Given the description of an element on the screen output the (x, y) to click on. 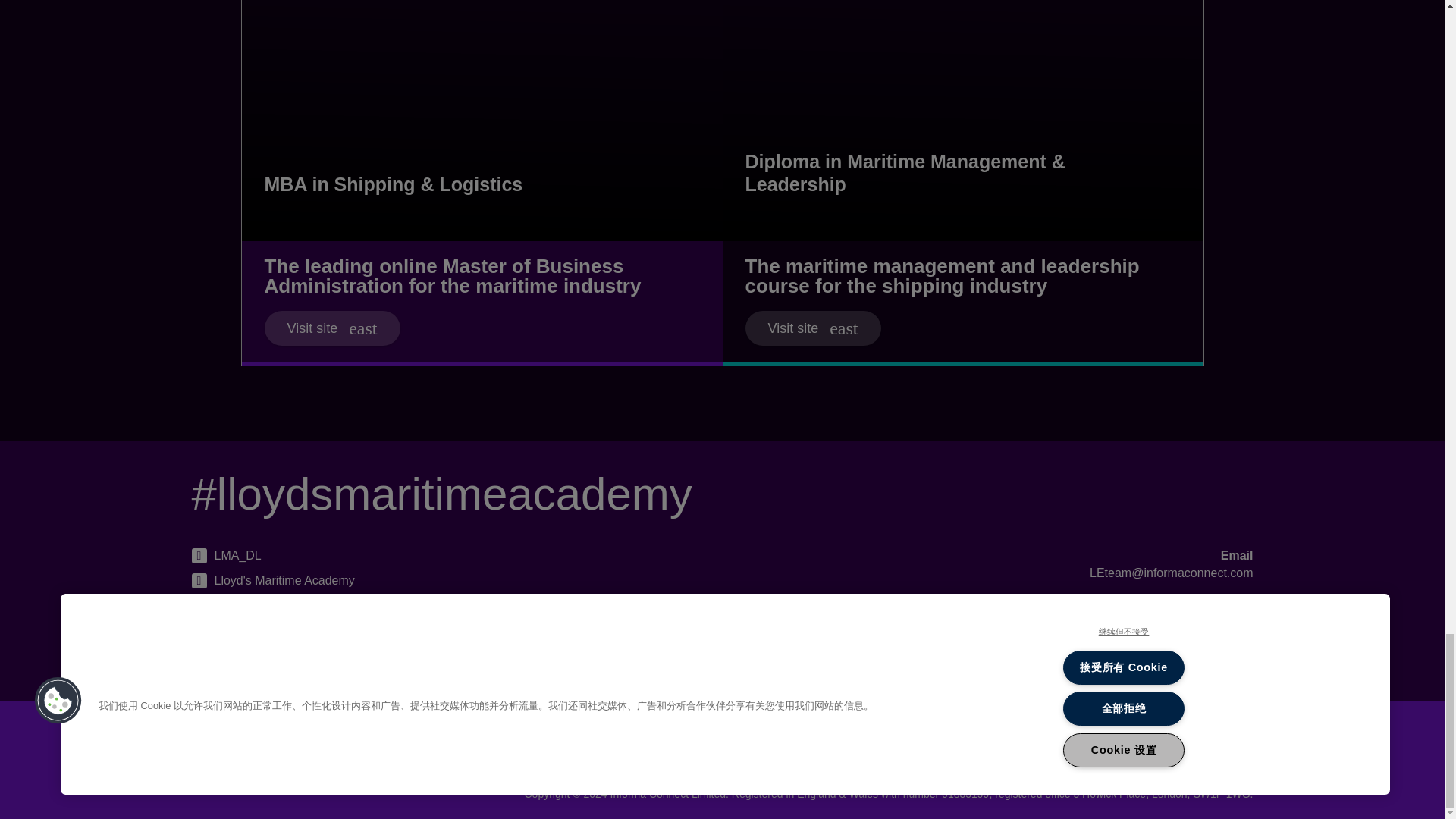
Lloyd's Maritime Academy - Distance Learning (326, 654)
Visit site (330, 328)
Lloyd's Maritime Academy (271, 629)
Visit site (812, 328)
Lloydsmaritimeacademy (267, 605)
Lloyd's Maritime Academy (271, 580)
